Given the description of an element on the screen output the (x, y) to click on. 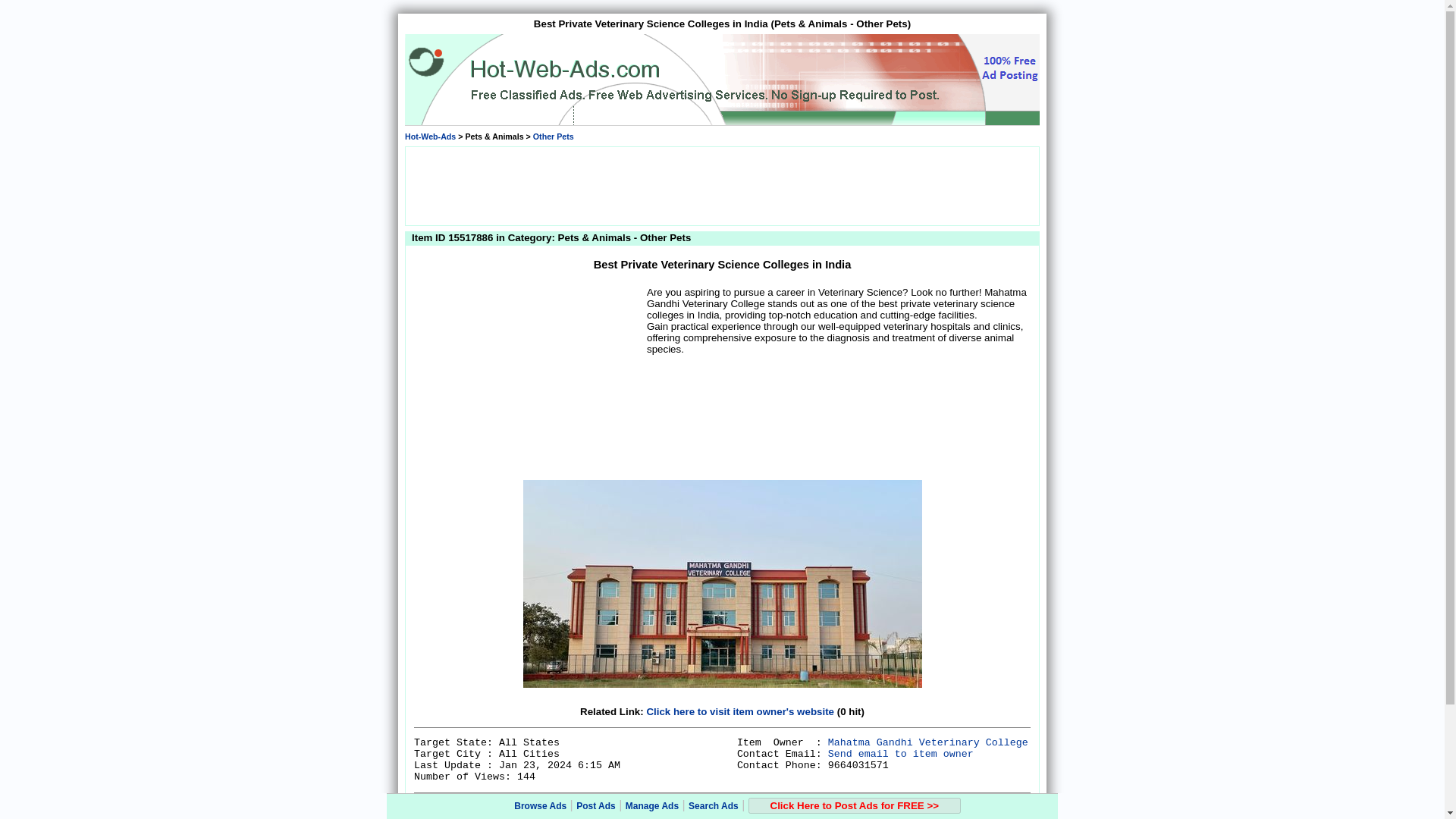
Advertisement (721, 184)
Browse Ads (539, 805)
Advertisement (527, 380)
Other Pets (552, 135)
Browse all items posted by this owner (927, 742)
Send email to item owner (901, 754)
Click here to read some tips. (847, 808)
Mahatma Gandhi Veterinary College (927, 742)
Manage Ads (652, 805)
Go Back to Hot-Web-Ads.com Home Page (429, 135)
Click here to visit item owner's website (740, 711)
Hot-Web-Ads (429, 135)
Post Ads (595, 805)
Search Ads (713, 805)
